Given the description of an element on the screen output the (x, y) to click on. 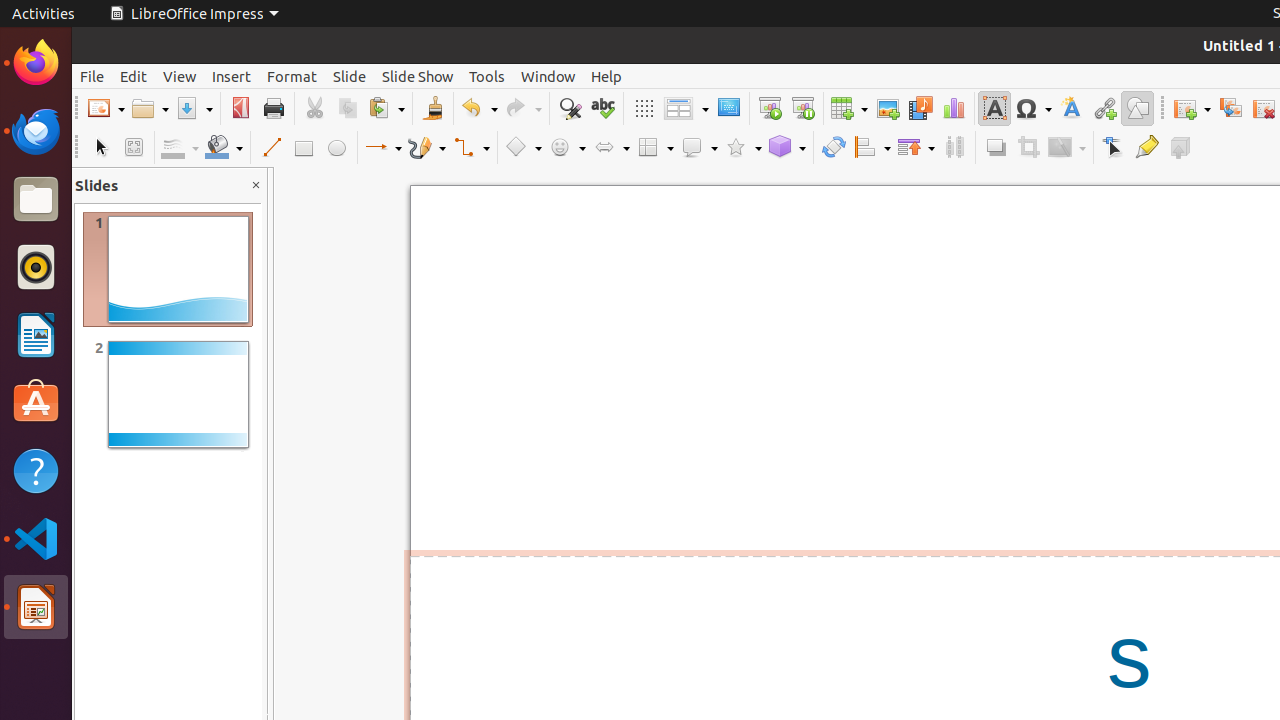
Hyperlink Element type: toggle-button (1104, 108)
Line Color Element type: push-button (180, 147)
Rhythmbox Element type: push-button (36, 267)
Duplicate Slide Element type: push-button (1230, 108)
